Given the description of an element on the screen output the (x, y) to click on. 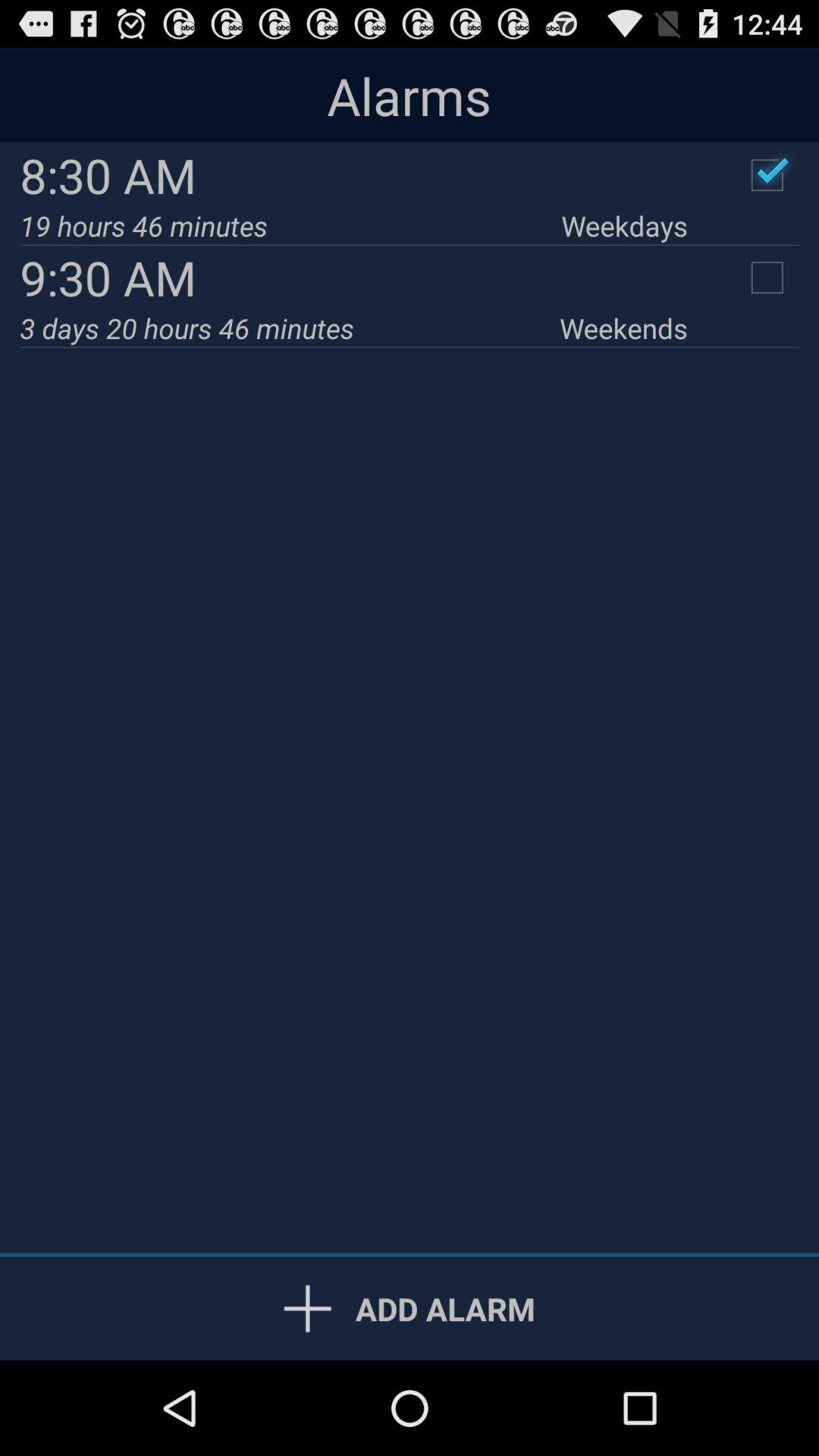
launch icon next to 19 hours 46 (624, 225)
